Given the description of an element on the screen output the (x, y) to click on. 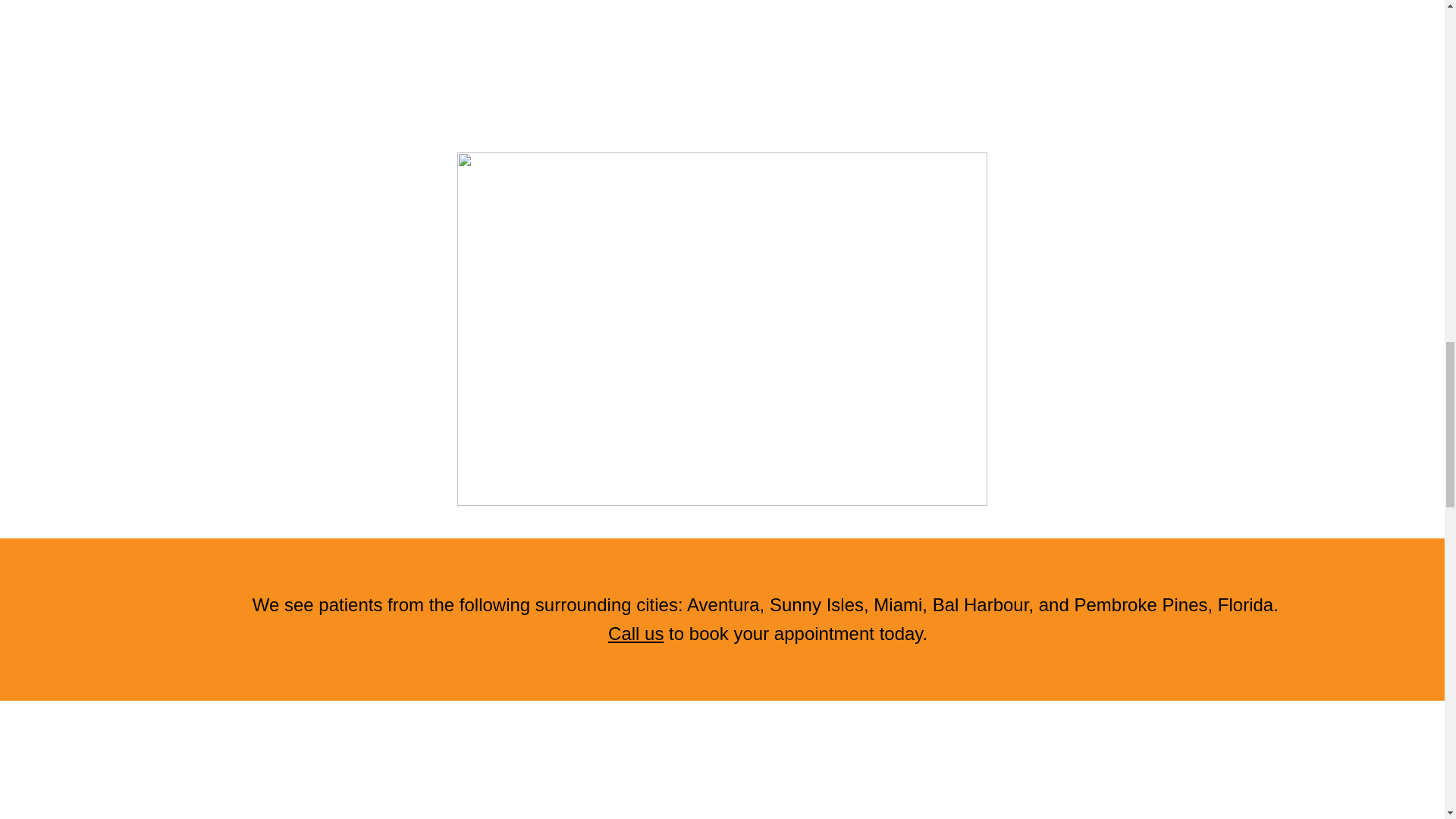
Call us (635, 633)
